Given the description of an element on the screen output the (x, y) to click on. 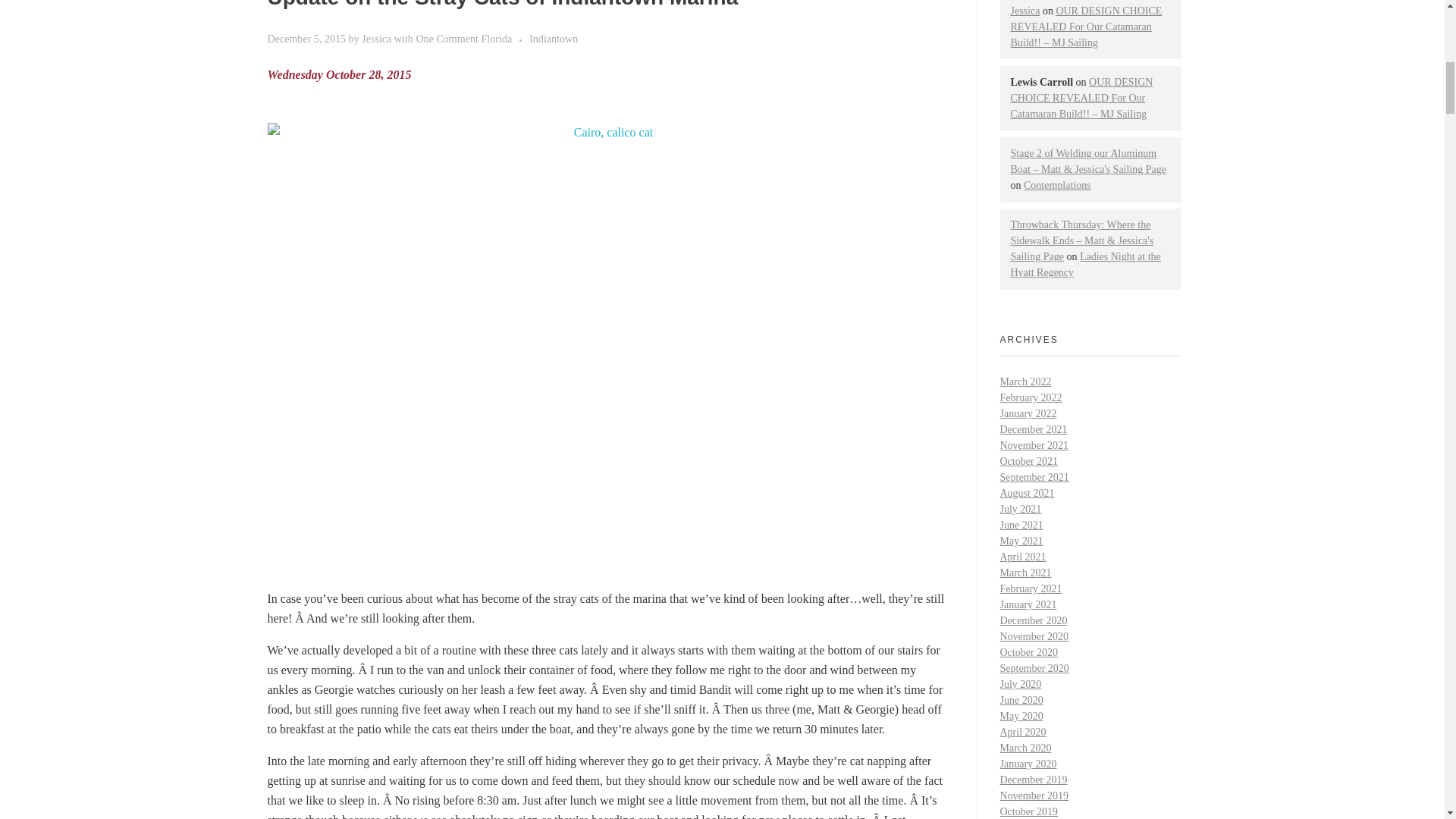
2015-12-05T22:32:44-05:00 (306, 38)
One Comment (446, 38)
View all posts by Jessica (377, 38)
View all posts in Indiantown (553, 38)
View all posts in Florida (504, 38)
Update on the Stray Cats of Indiantown Marina (502, 4)
Indiantown (553, 38)
Florida (504, 38)
December 5, 2015 (306, 38)
Jessica (377, 38)
